Given the description of an element on the screen output the (x, y) to click on. 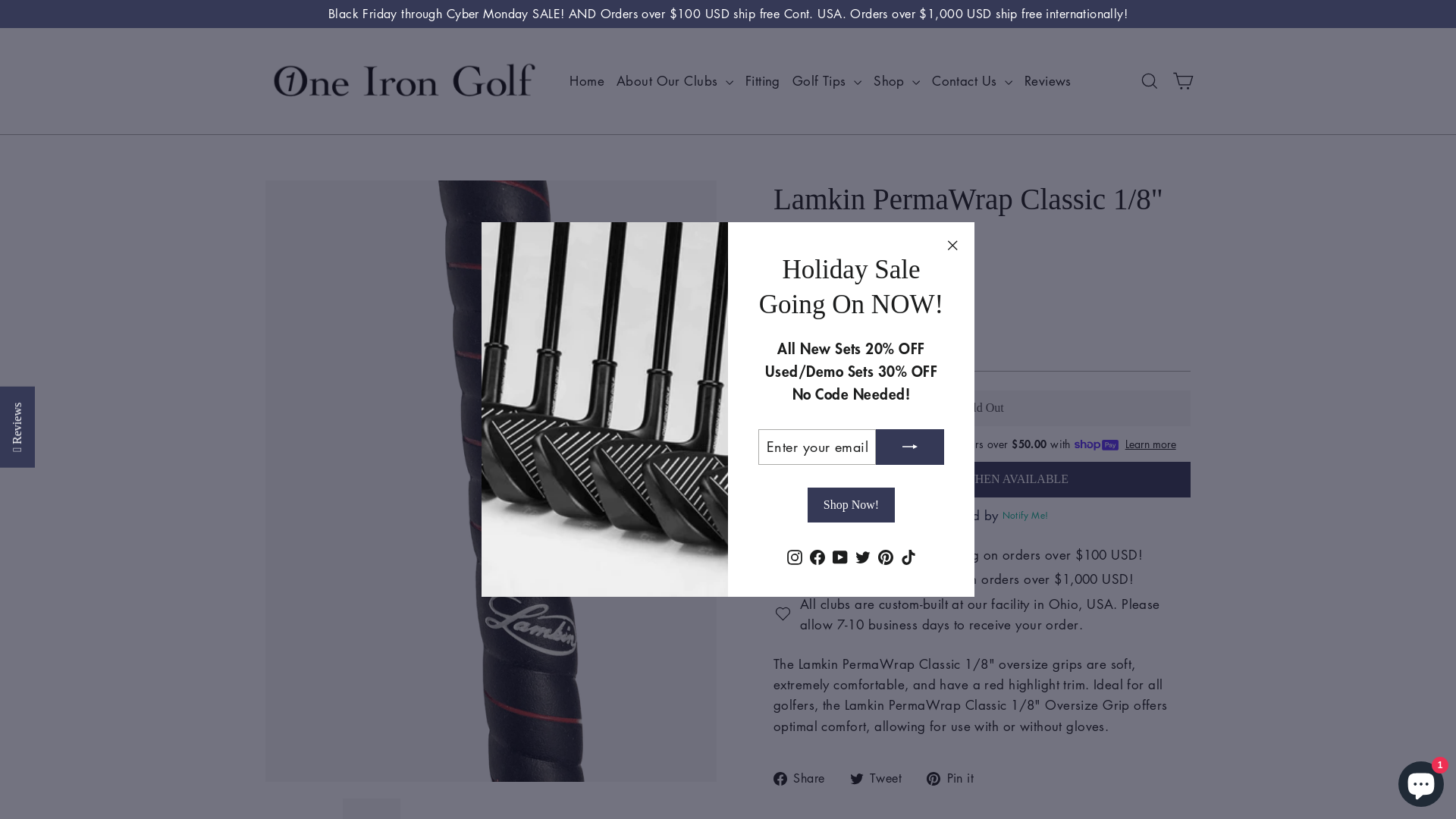
Notify Me! Element type: text (1022, 514)
YouTube Element type: text (839, 555)
Shop Element type: text (896, 80)
Instagram Element type: text (793, 555)
Shop Now! Element type: text (850, 505)
Shipping Element type: text (794, 343)
Cart Element type: text (1182, 81)
TikTok Element type: text (907, 555)
Golf Tips Element type: text (826, 80)
Tweet
Tweet on Twitter Element type: text (881, 778)
Twitter Element type: text (861, 555)
Sold Out Element type: text (981, 408)
Home Element type: text (586, 80)
Pinterest Element type: text (884, 555)
"Close (esc)" Element type: text (952, 244)
NOTIFY ME WHEN AVAILABLE Element type: text (981, 479)
Shopify online store chat Element type: hover (1420, 780)
Fitting Element type: text (762, 80)
Reviews Element type: text (1047, 80)
About Our Clubs Element type: text (674, 80)
Pin it
Pin on Pinterest Element type: text (955, 778)
Facebook Element type: text (816, 555)
Share
Share on Facebook Element type: text (804, 778)
Search Element type: text (1149, 81)
Contact Us Element type: text (971, 80)
